Given the description of an element on the screen output the (x, y) to click on. 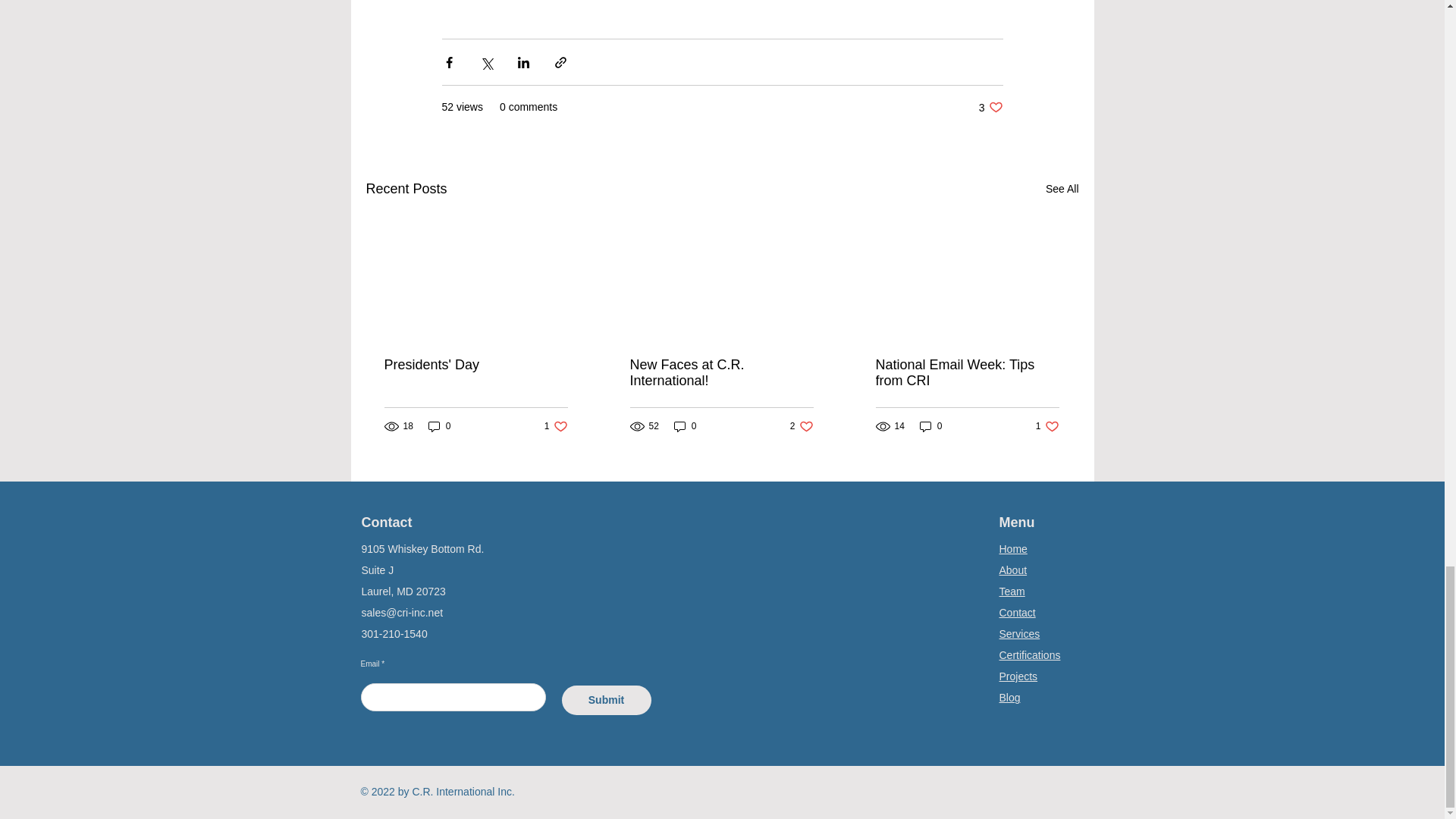
Team (555, 426)
New Faces at C.R. International! (1011, 591)
0 (720, 373)
Home (439, 426)
See All (1012, 548)
Contact (1061, 188)
Google Maps (1016, 612)
0 (810, 624)
Services (930, 426)
National Email Week: Tips from CRI (1019, 633)
Submit (966, 373)
About (801, 426)
